Given the description of an element on the screen output the (x, y) to click on. 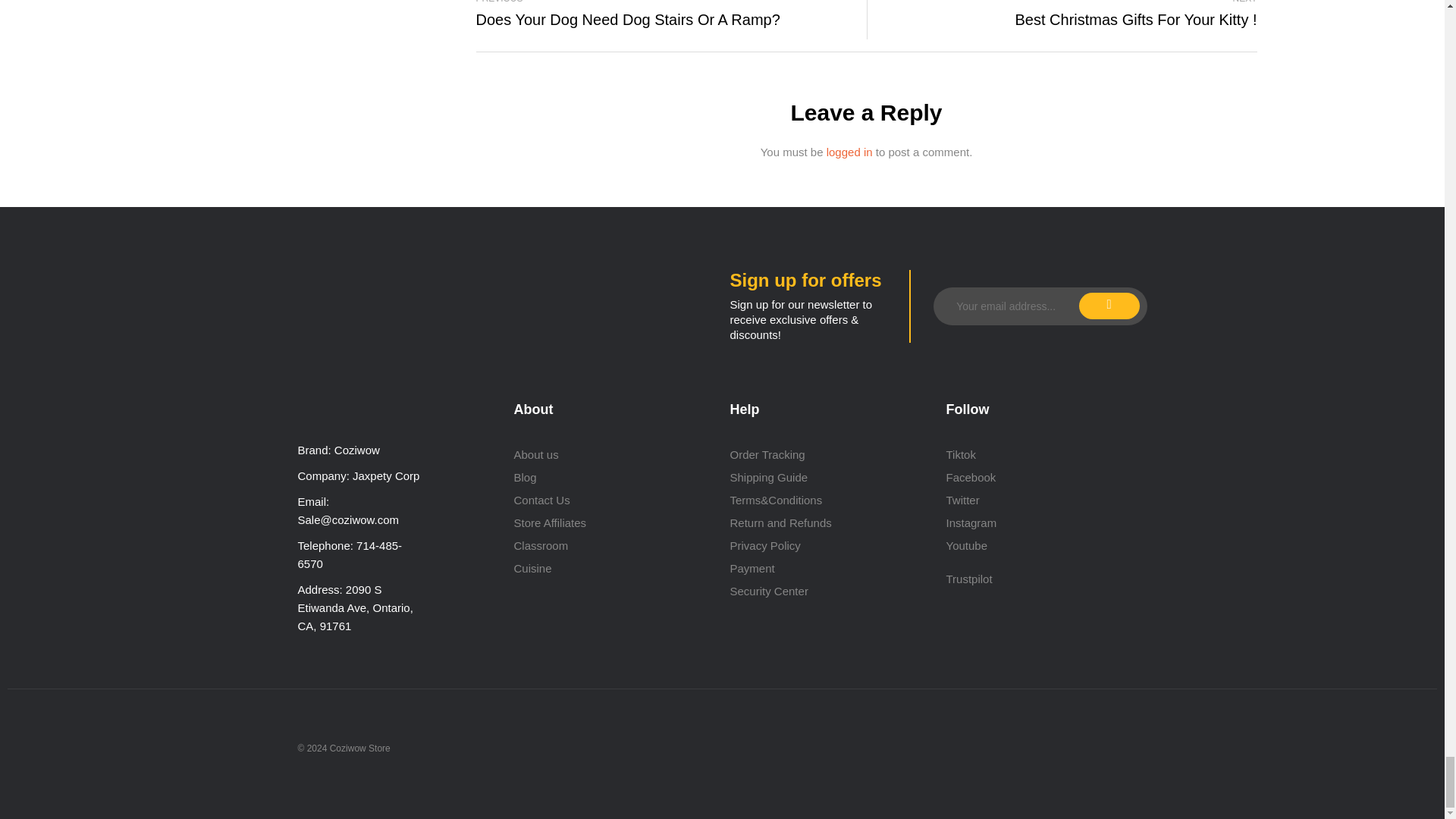
Subscribe (1108, 305)
